Given the description of an element on the screen output the (x, y) to click on. 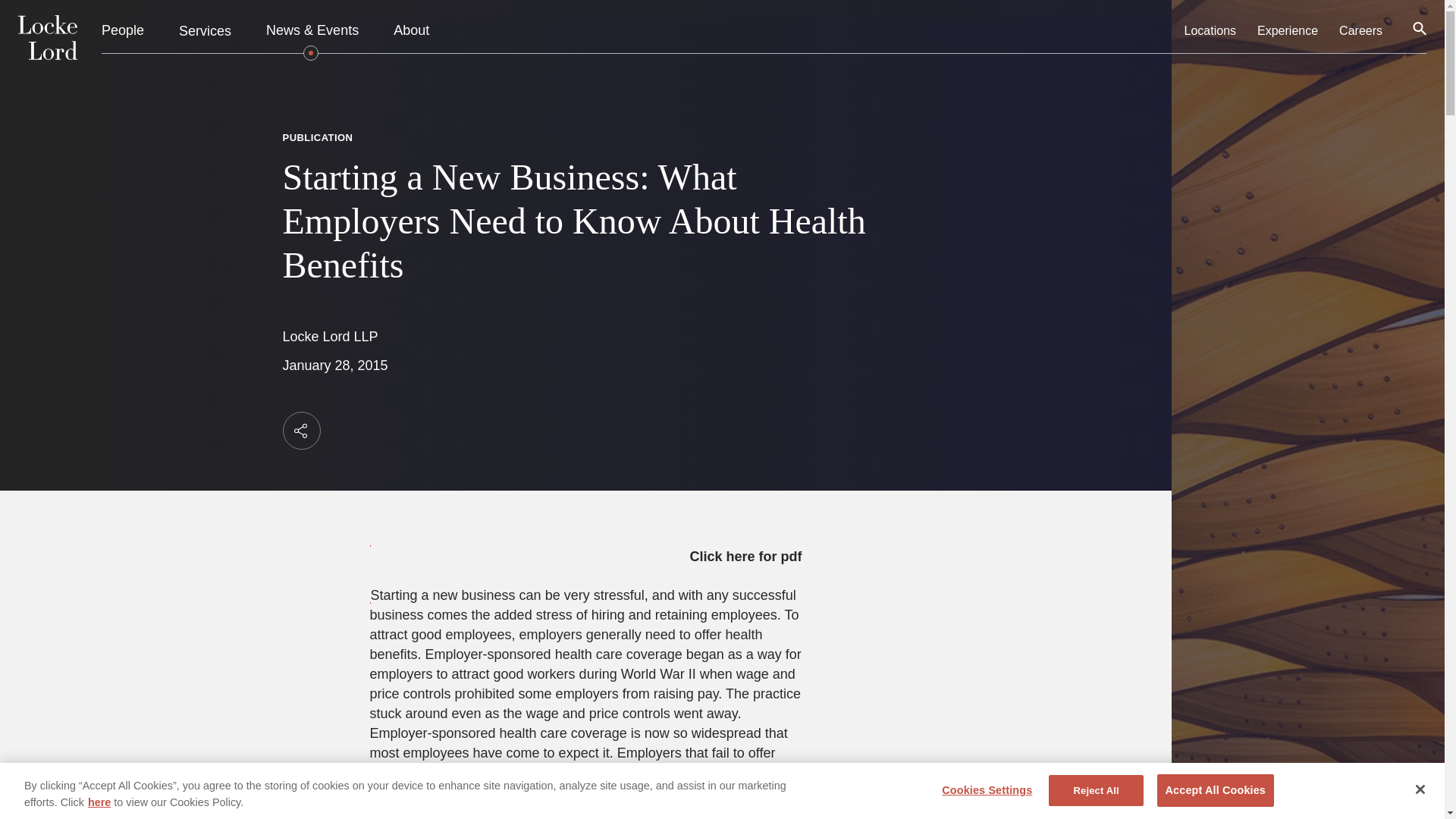
People (122, 30)
Services (205, 31)
